Given the description of an element on the screen output the (x, y) to click on. 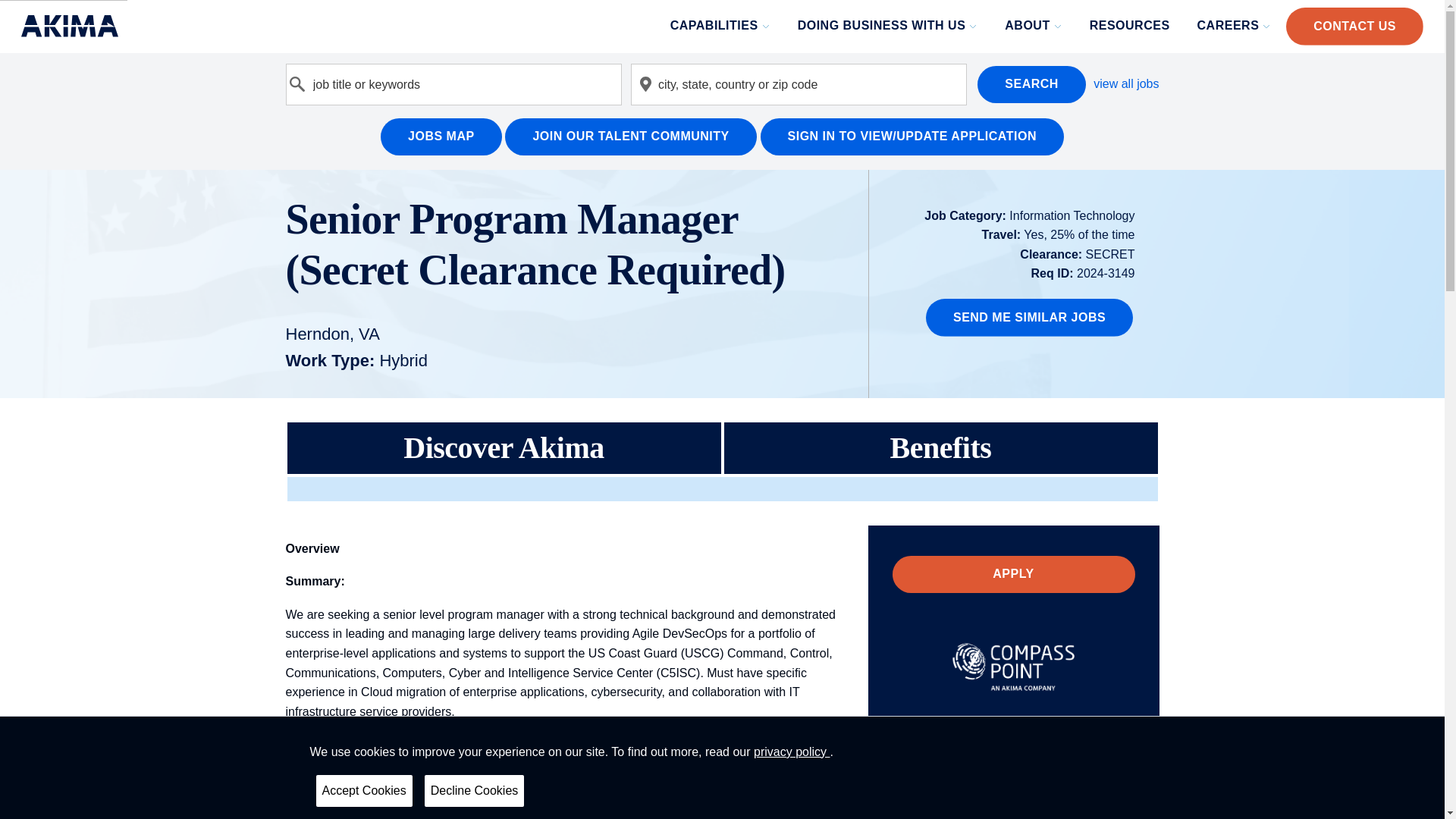
RESOURCES (1131, 26)
SEND ME SIMILAR JOBS (1029, 317)
Discover Akima (503, 448)
Accept Cookies (363, 790)
CAPABILITIES (721, 26)
CONTACT US (1354, 26)
ABOUT (1034, 26)
privacy policy (791, 751)
SEARCH (1031, 85)
Benefits (940, 448)
